Given the description of an element on the screen output the (x, y) to click on. 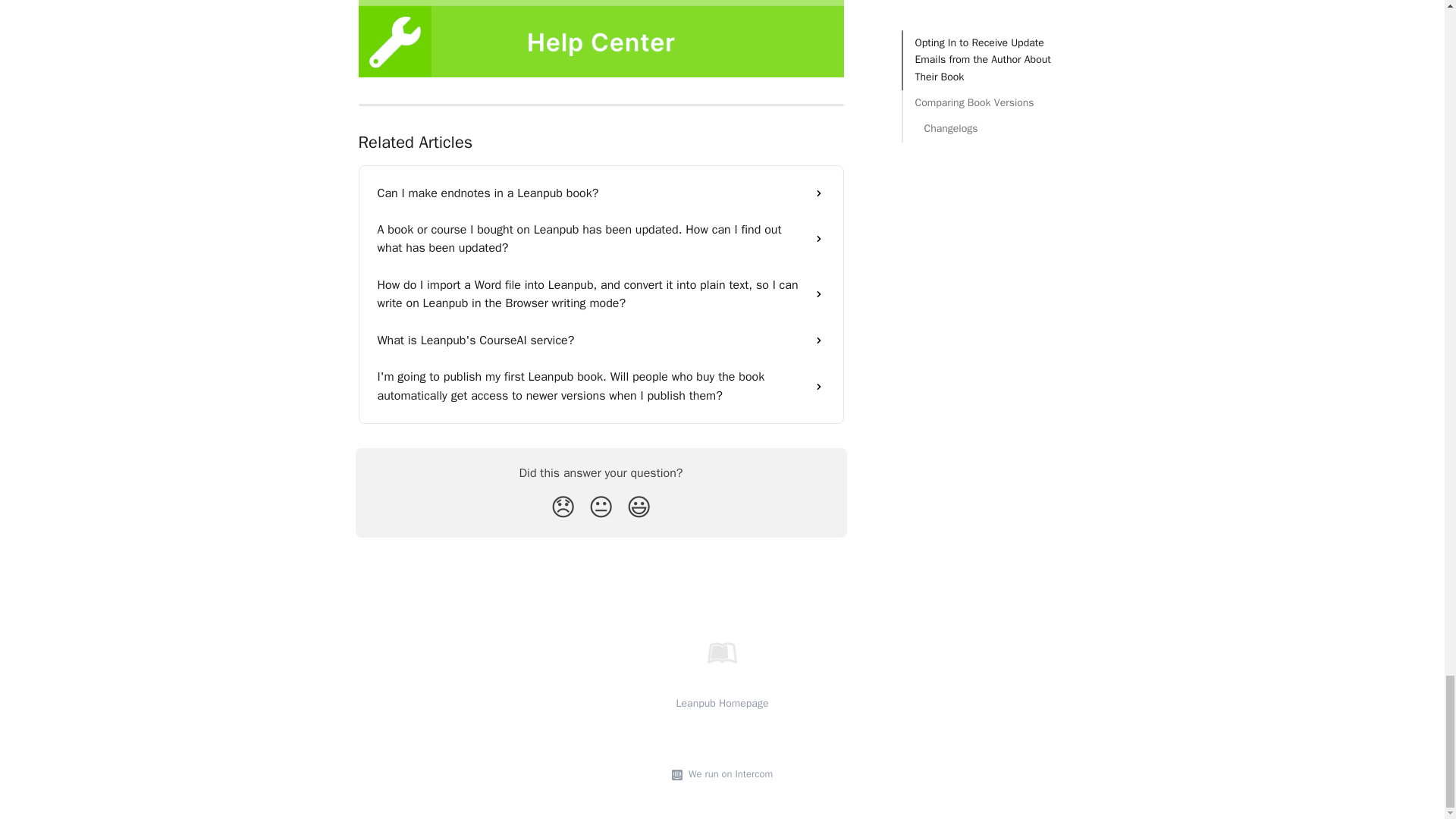
Can I make endnotes in a Leanpub book? (601, 193)
What is Leanpub's CourseAI service? (601, 340)
Leanpub Homepage (722, 703)
